Given the description of an element on the screen output the (x, y) to click on. 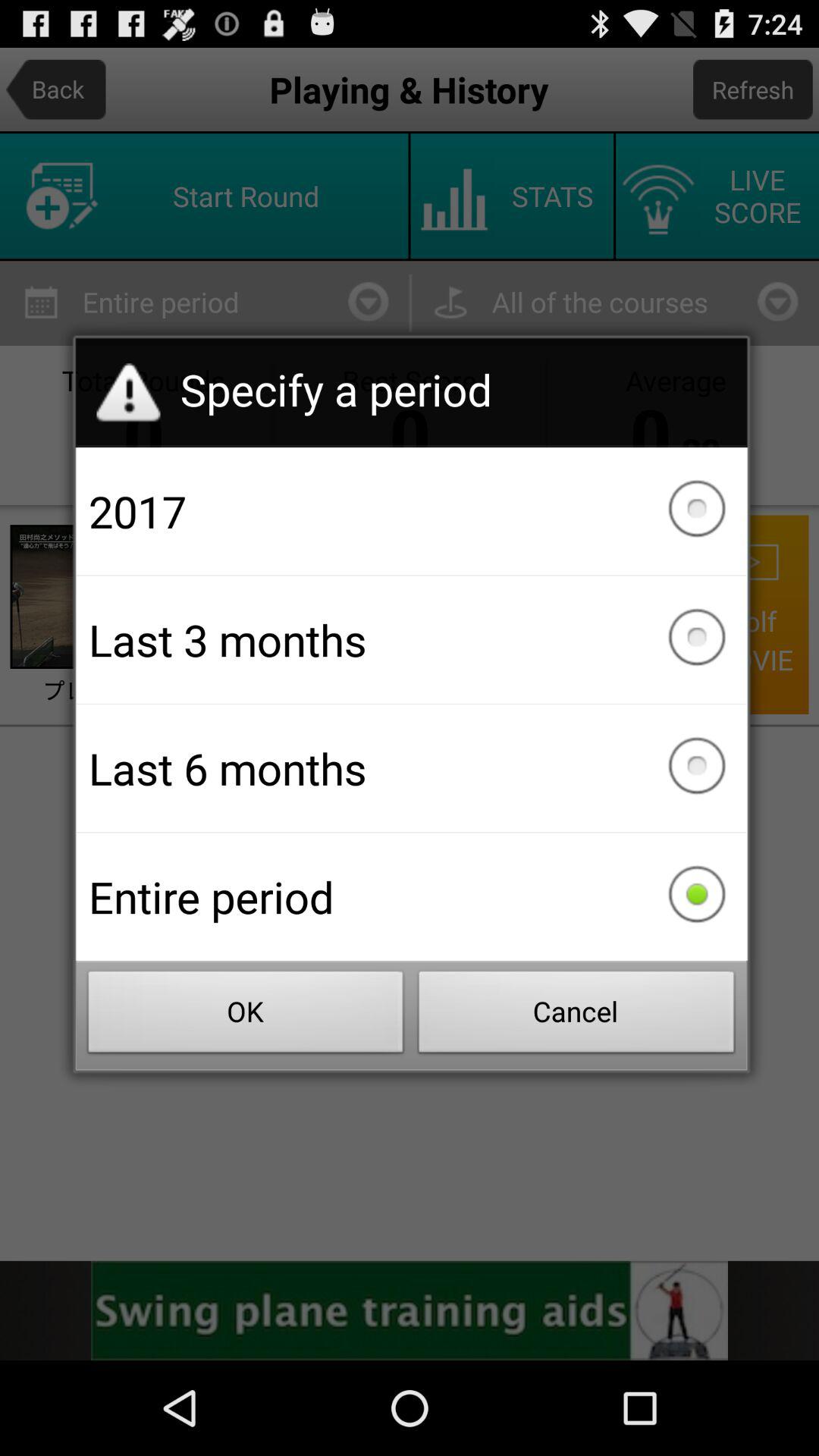
swipe until the ok item (245, 1016)
